Given the description of an element on the screen output the (x, y) to click on. 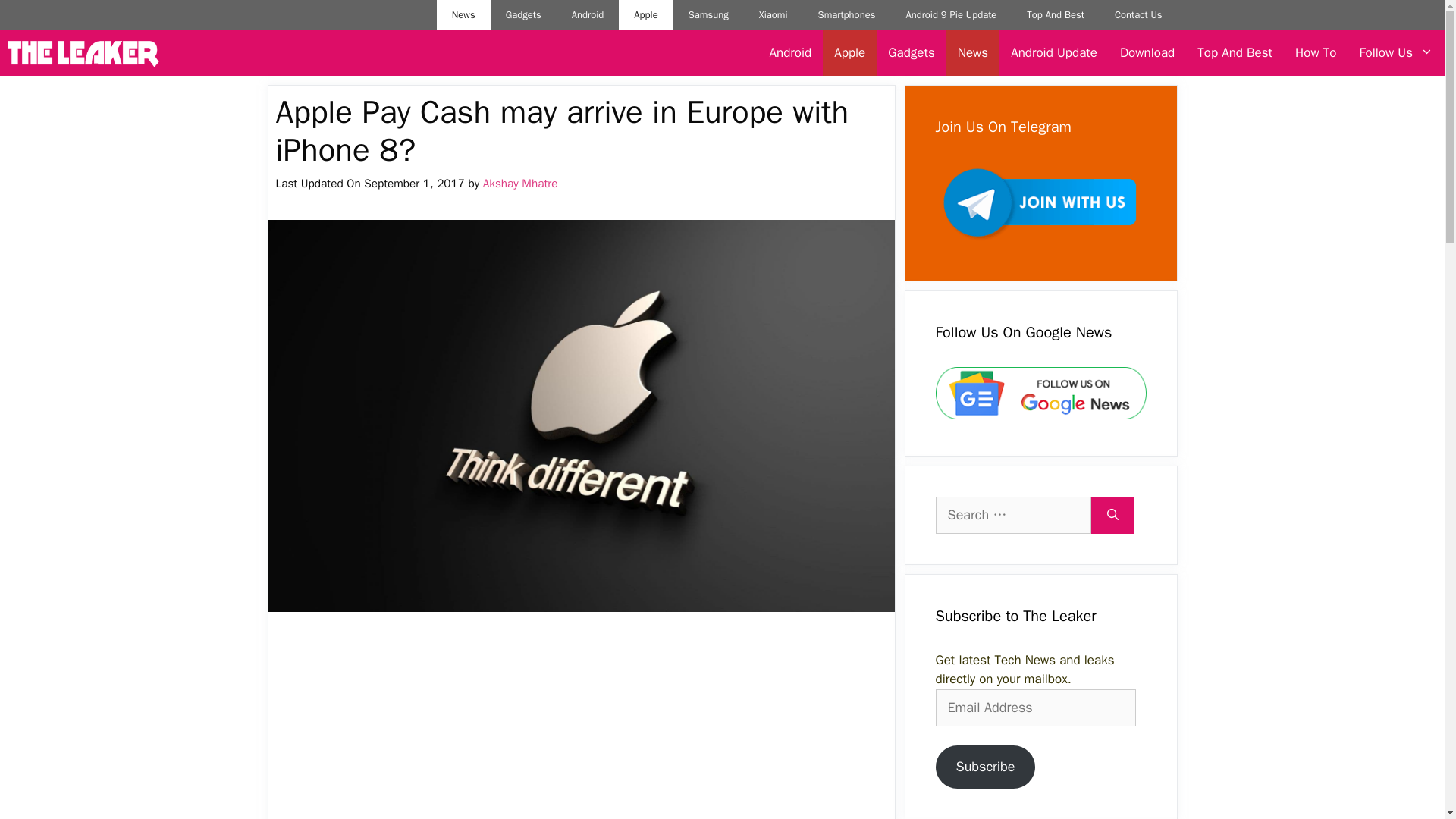
View all posts by Akshay Mhatre (520, 183)
How To (1316, 53)
The Leaker (82, 53)
Smartphones (847, 15)
Contact Us (1138, 15)
Gadgets (523, 15)
Gadgets (910, 53)
Search for: (1013, 514)
News (972, 53)
Apple (849, 53)
